Given the description of an element on the screen output the (x, y) to click on. 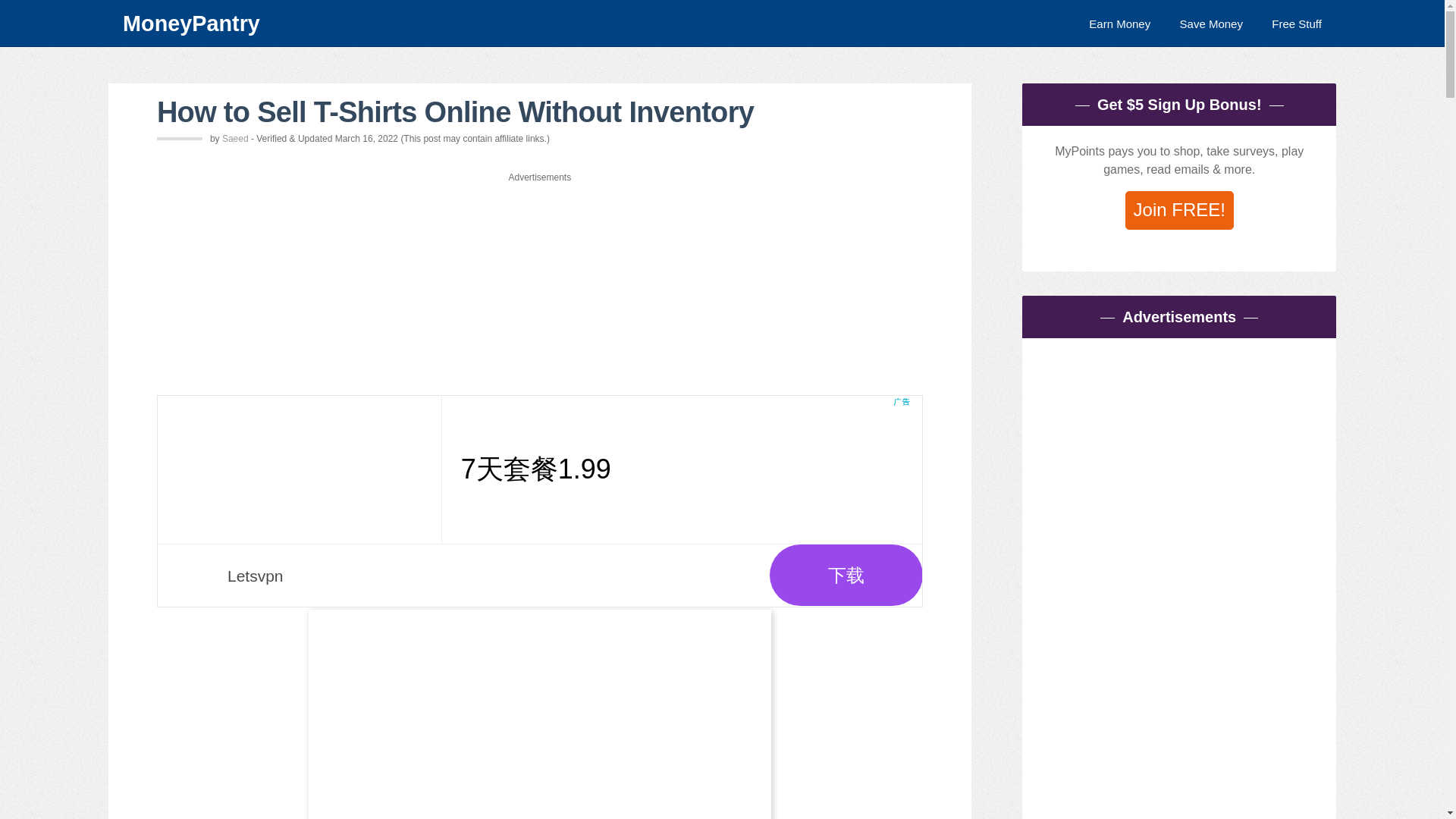
MoneyPantry (482, 22)
Free Stuff (1296, 22)
Join FREE! (1179, 210)
Save Money (1210, 22)
Saeed (235, 138)
Earn Money (1119, 22)
